Given the description of an element on the screen output the (x, y) to click on. 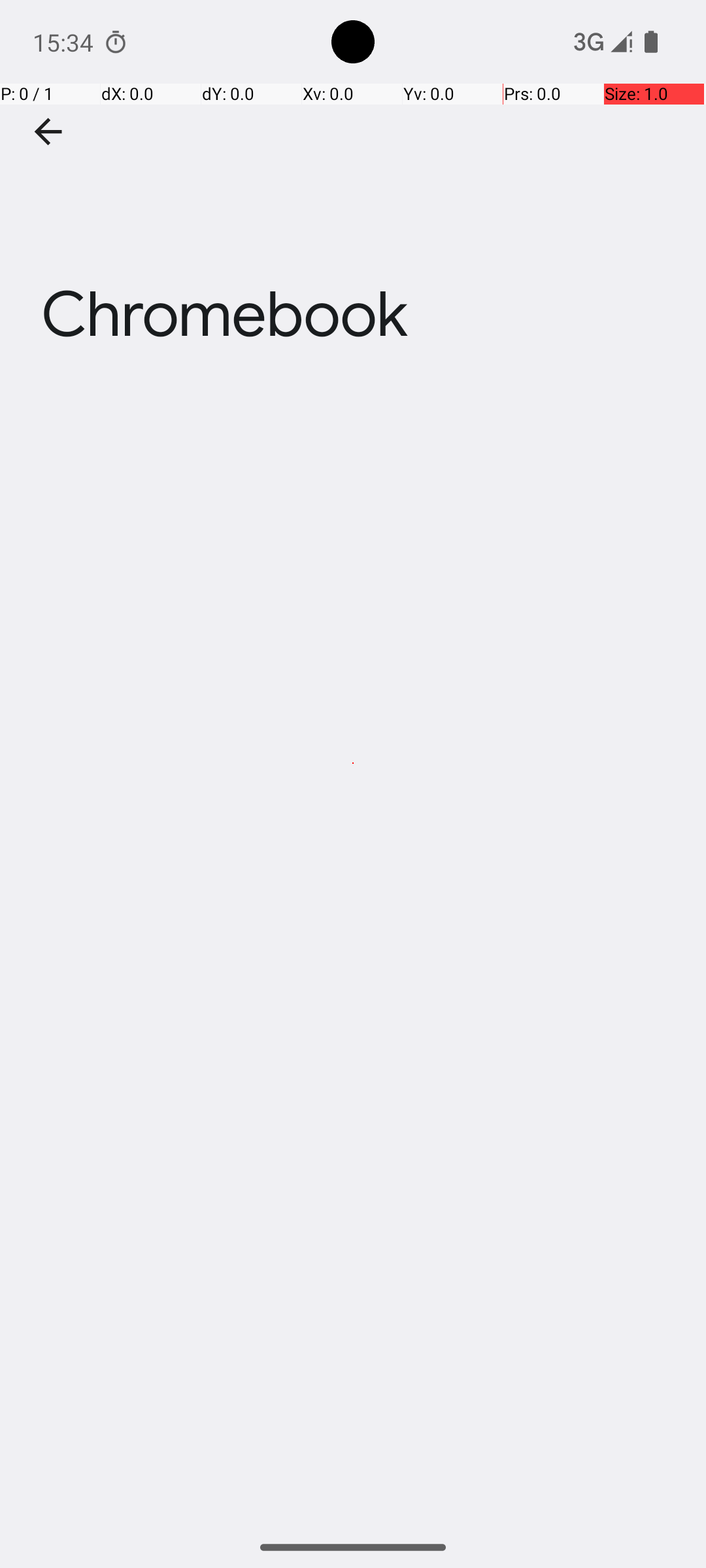
Chromebook Element type: android.widget.FrameLayout (353, 195)
